Given the description of an element on the screen output the (x, y) to click on. 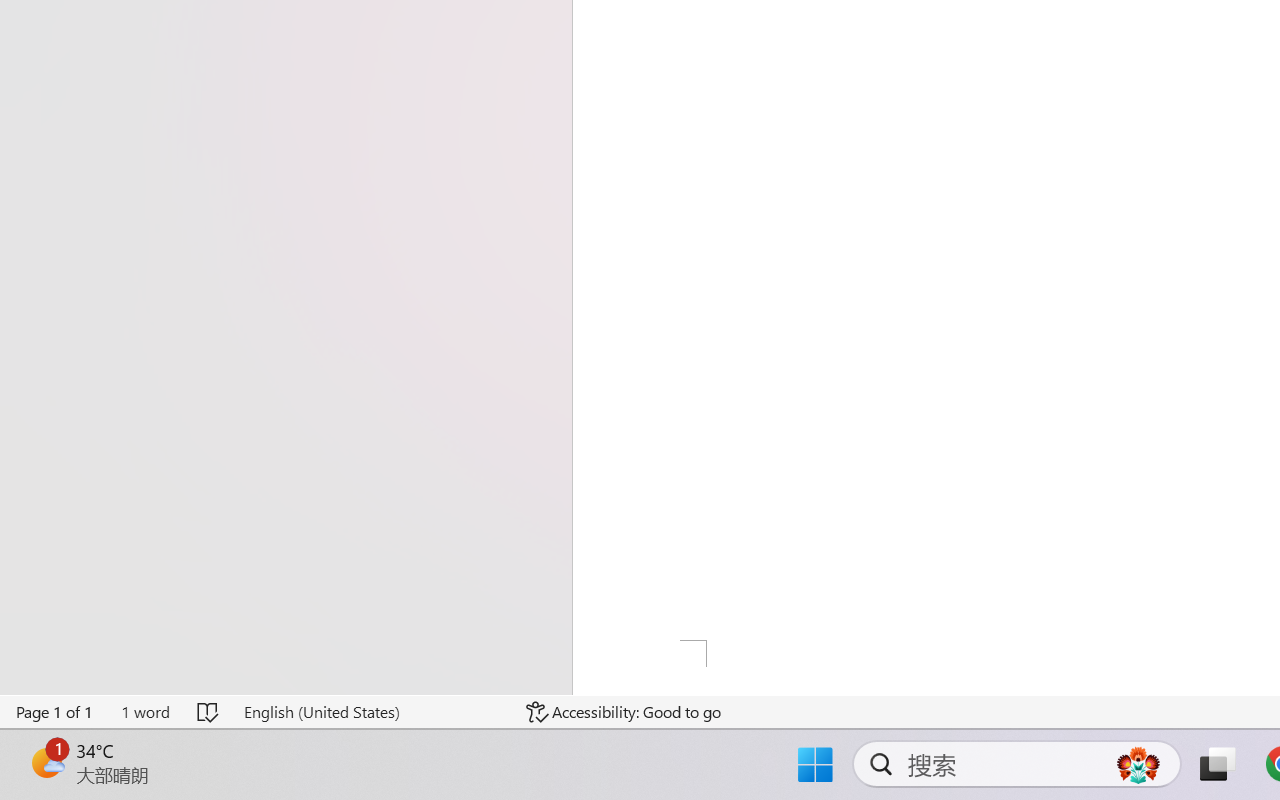
AutomationID: BadgeAnchorLargeTicker (46, 762)
Accessibility Checker Accessibility: Good to go (623, 712)
Spelling and Grammar Check No Errors (208, 712)
Page Number Page 1 of 1 (55, 712)
Word Count 1 word (145, 712)
Language English (United States) (370, 712)
AutomationID: DynamicSearchBoxGleamImage (1138, 764)
